Given the description of an element on the screen output the (x, y) to click on. 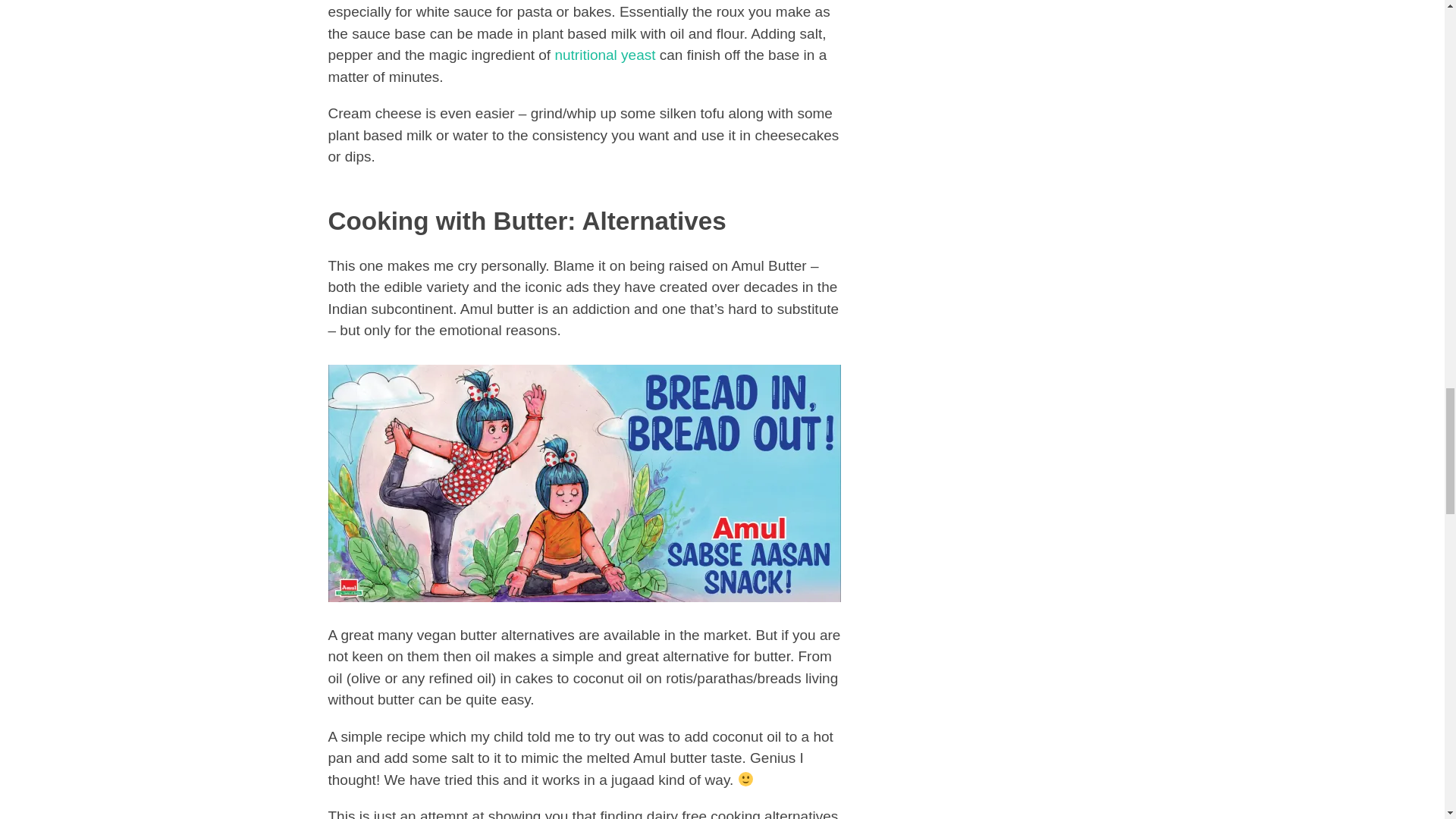
nutritional yeast (604, 54)
